Given the description of an element on the screen output the (x, y) to click on. 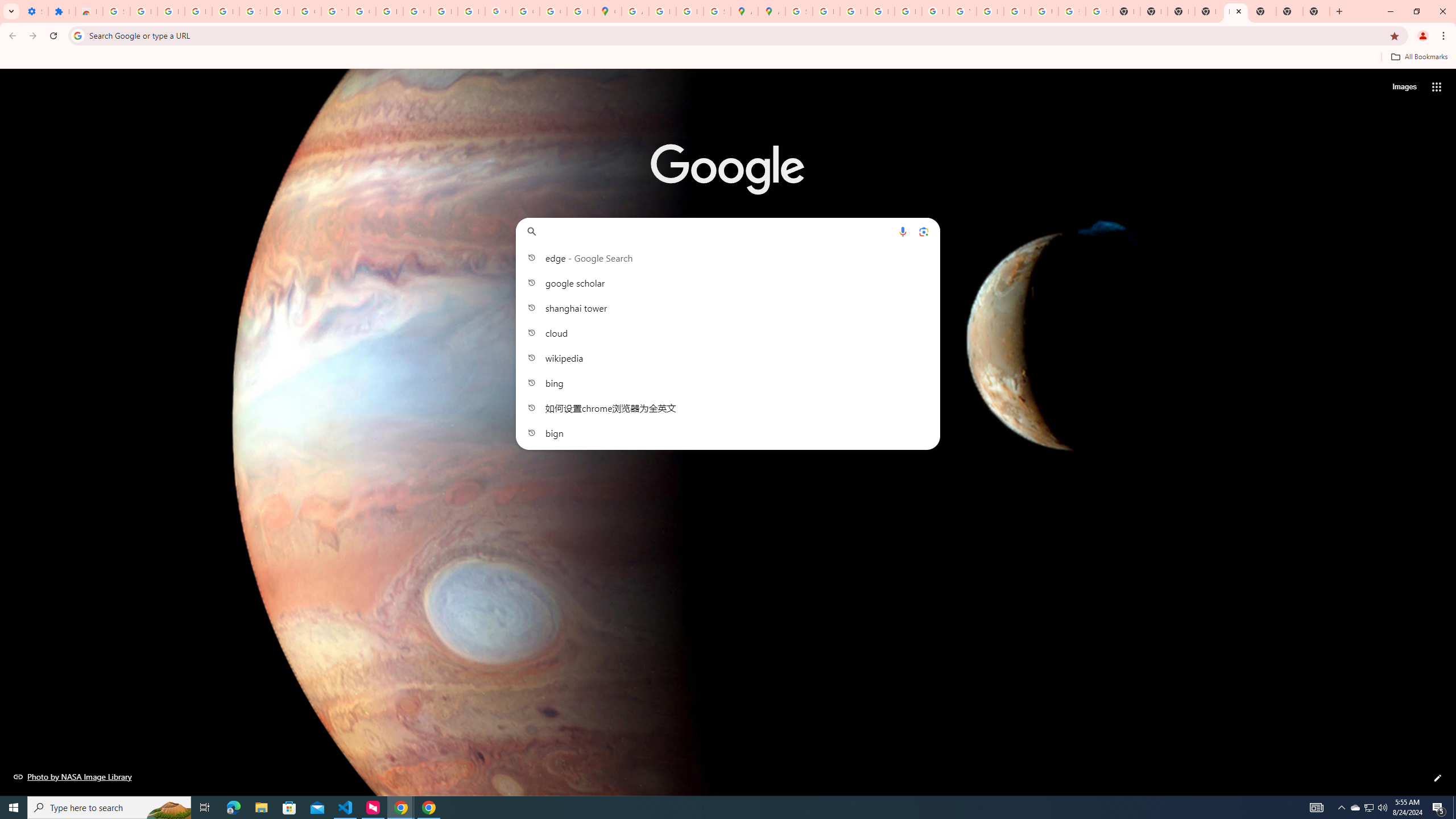
Sign in - Google Accounts (799, 11)
